Given the description of an element on the screen output the (x, y) to click on. 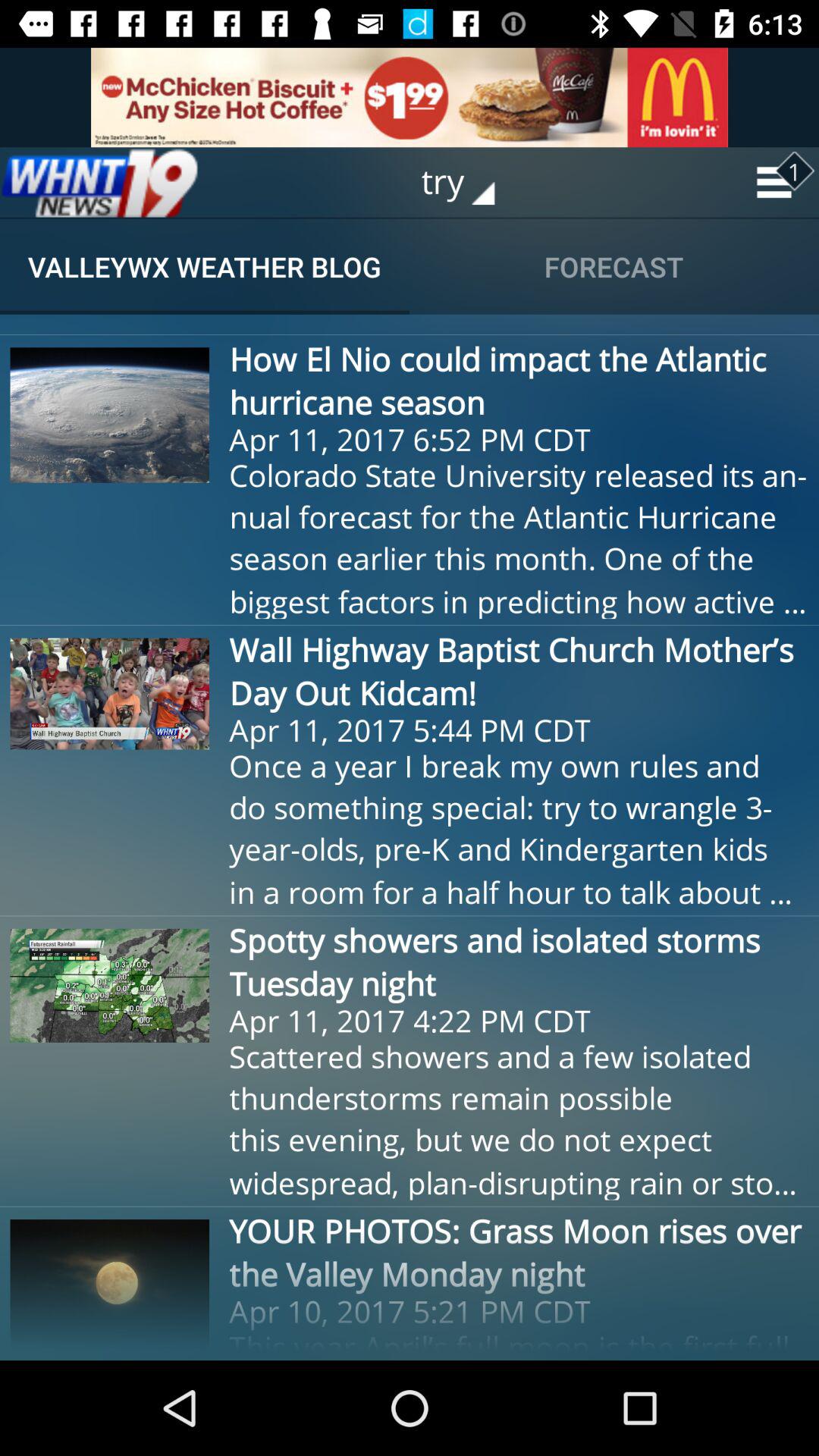
select try (469, 181)
click on the second last image (109, 985)
select the image which is under the valleywx weather blog (109, 415)
